Given the description of an element on the screen output the (x, y) to click on. 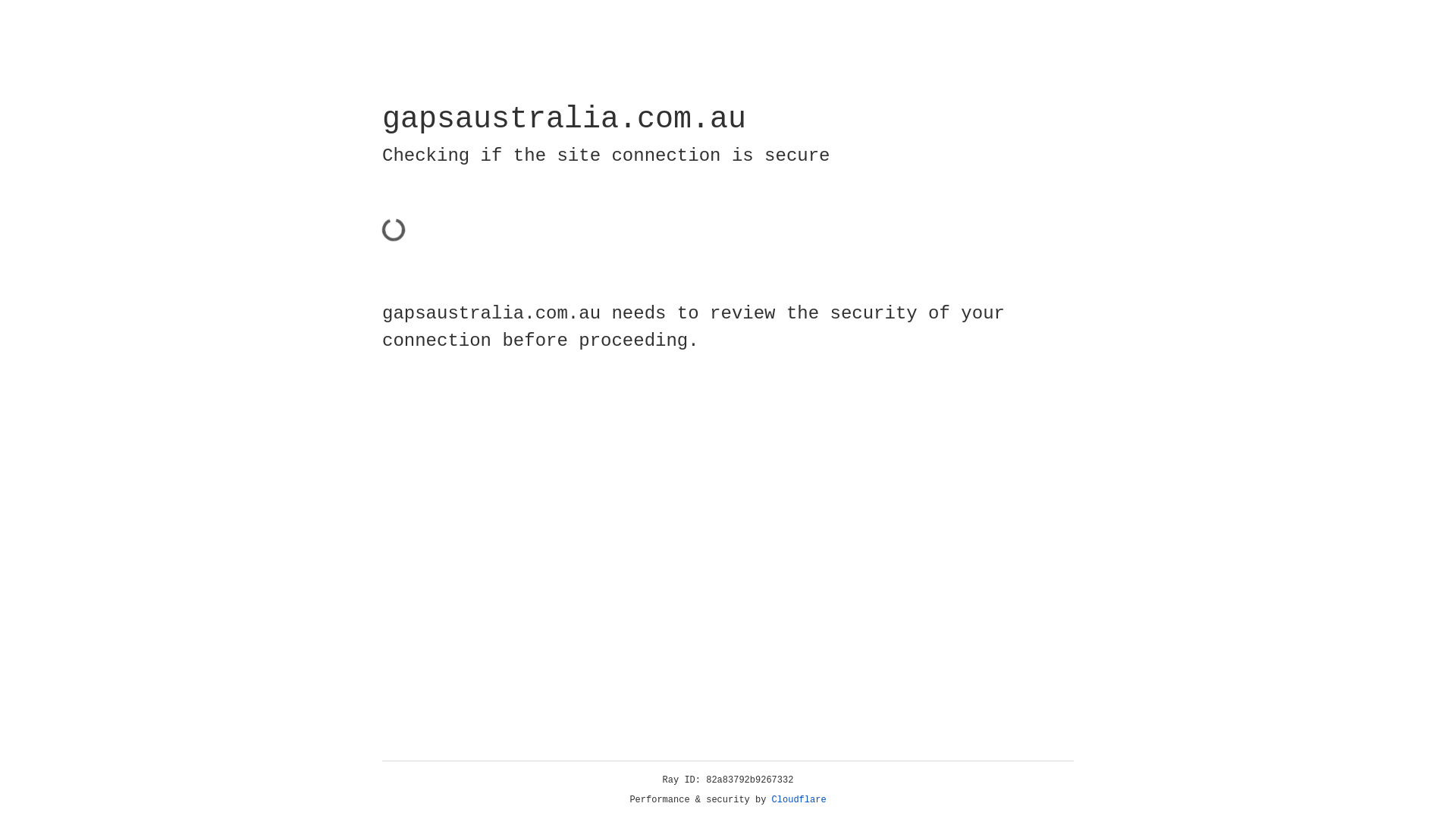
Cloudflare Element type: text (798, 799)
